Given the description of an element on the screen output the (x, y) to click on. 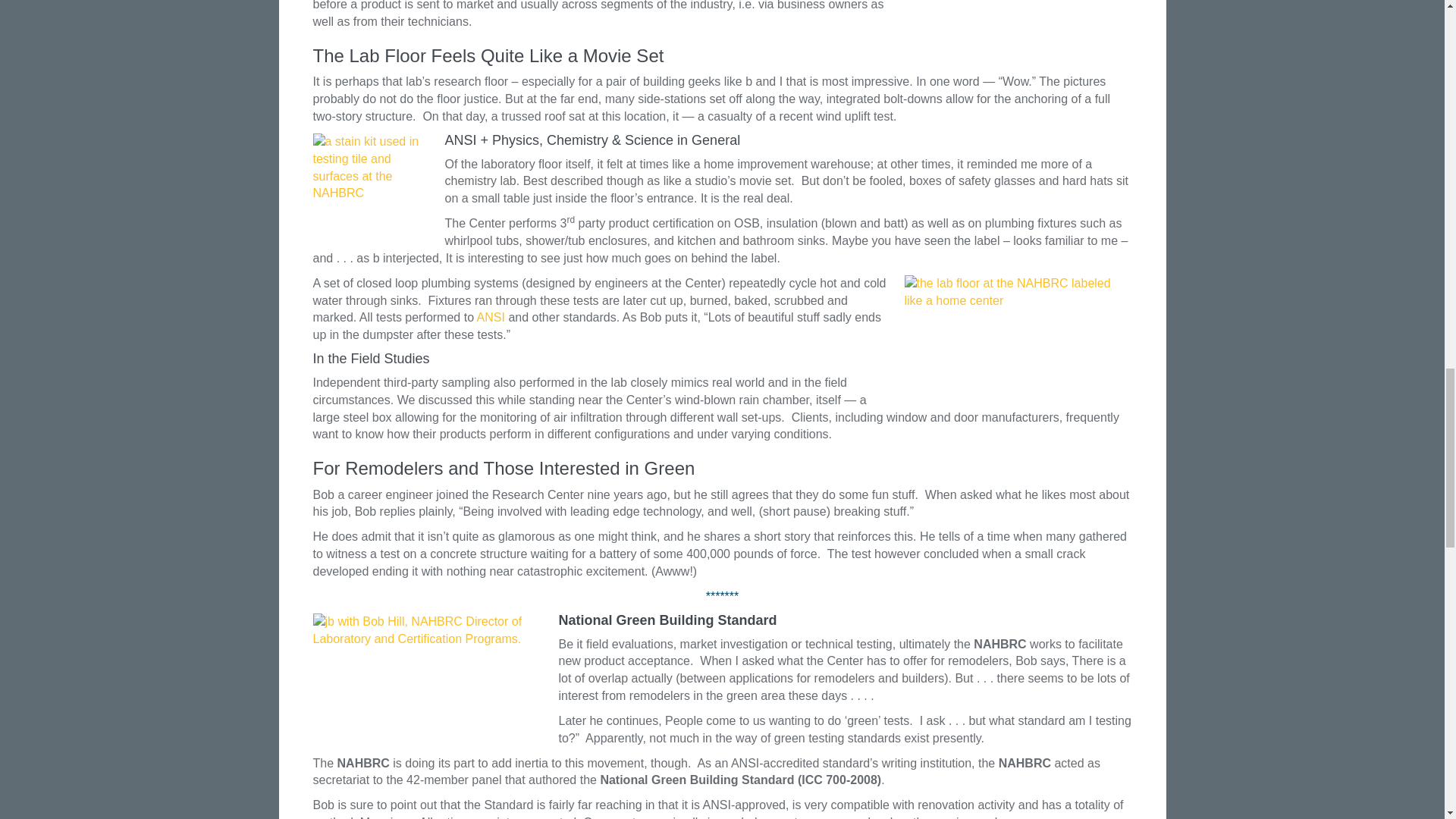
a stain kit used in testing tile and surfaces at the NAHBRC (369, 190)
the lab floor at the NAHBRC labeled like a home center (1017, 338)
ANSI (491, 317)
